Given the description of an element on the screen output the (x, y) to click on. 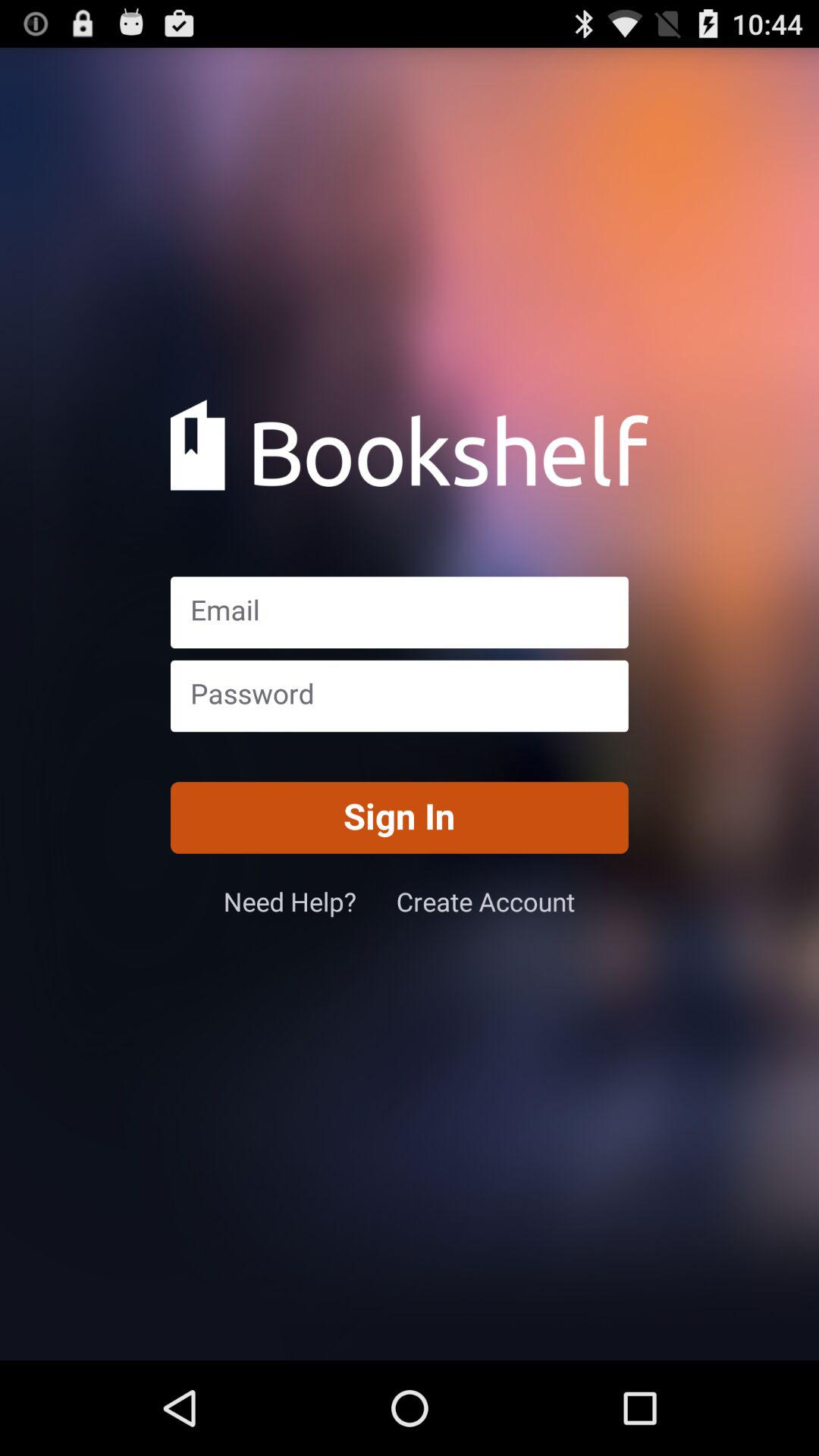
press the create account button (485, 901)
